Given the description of an element on the screen output the (x, y) to click on. 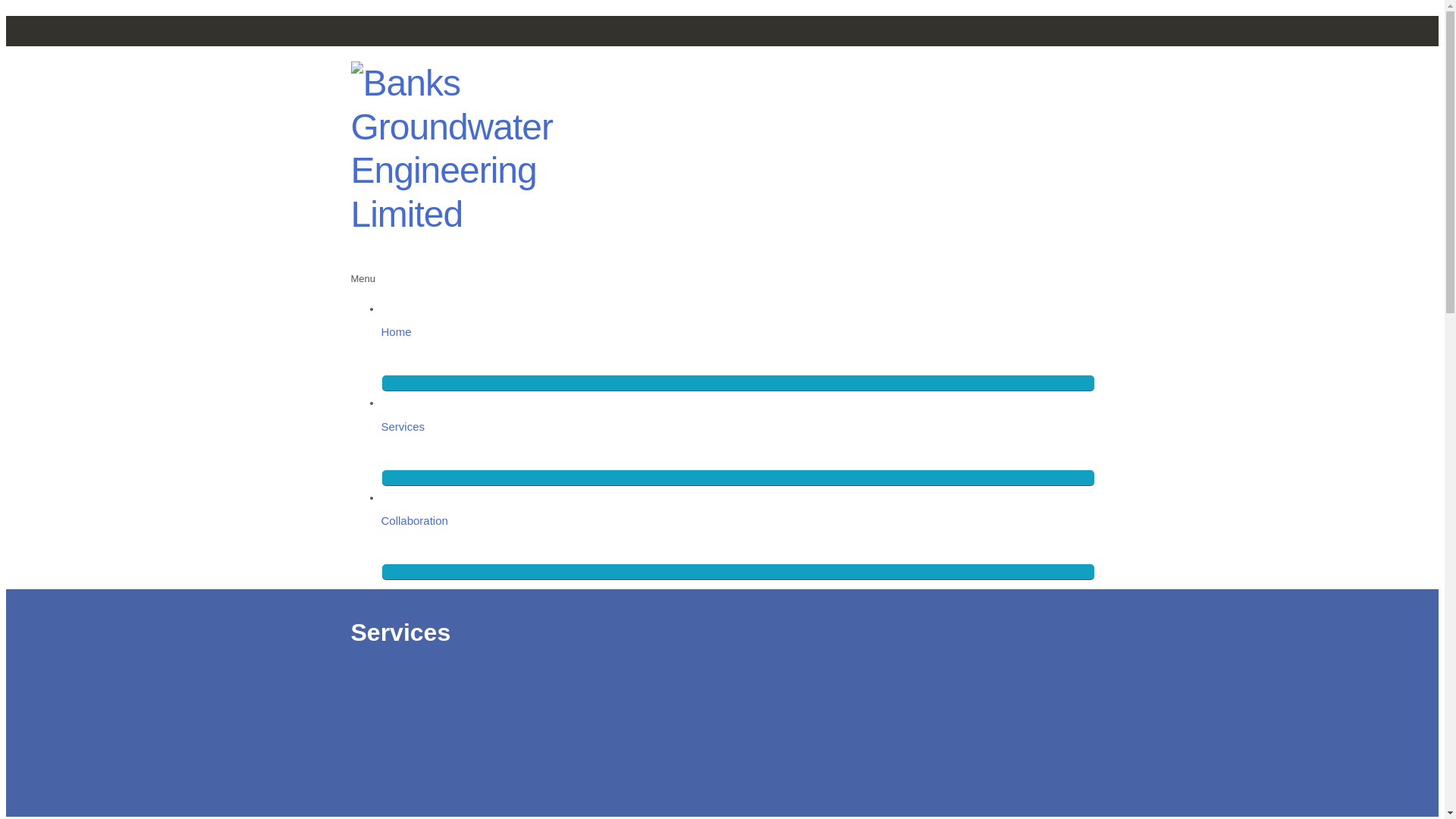
Go to site home page Element type: hover (501, 214)
Go to site home page Element type: hover (501, 148)
Services Element type: text (736, 426)
Collaboration Element type: text (736, 520)
Home Element type: text (736, 332)
